Given the description of an element on the screen output the (x, y) to click on. 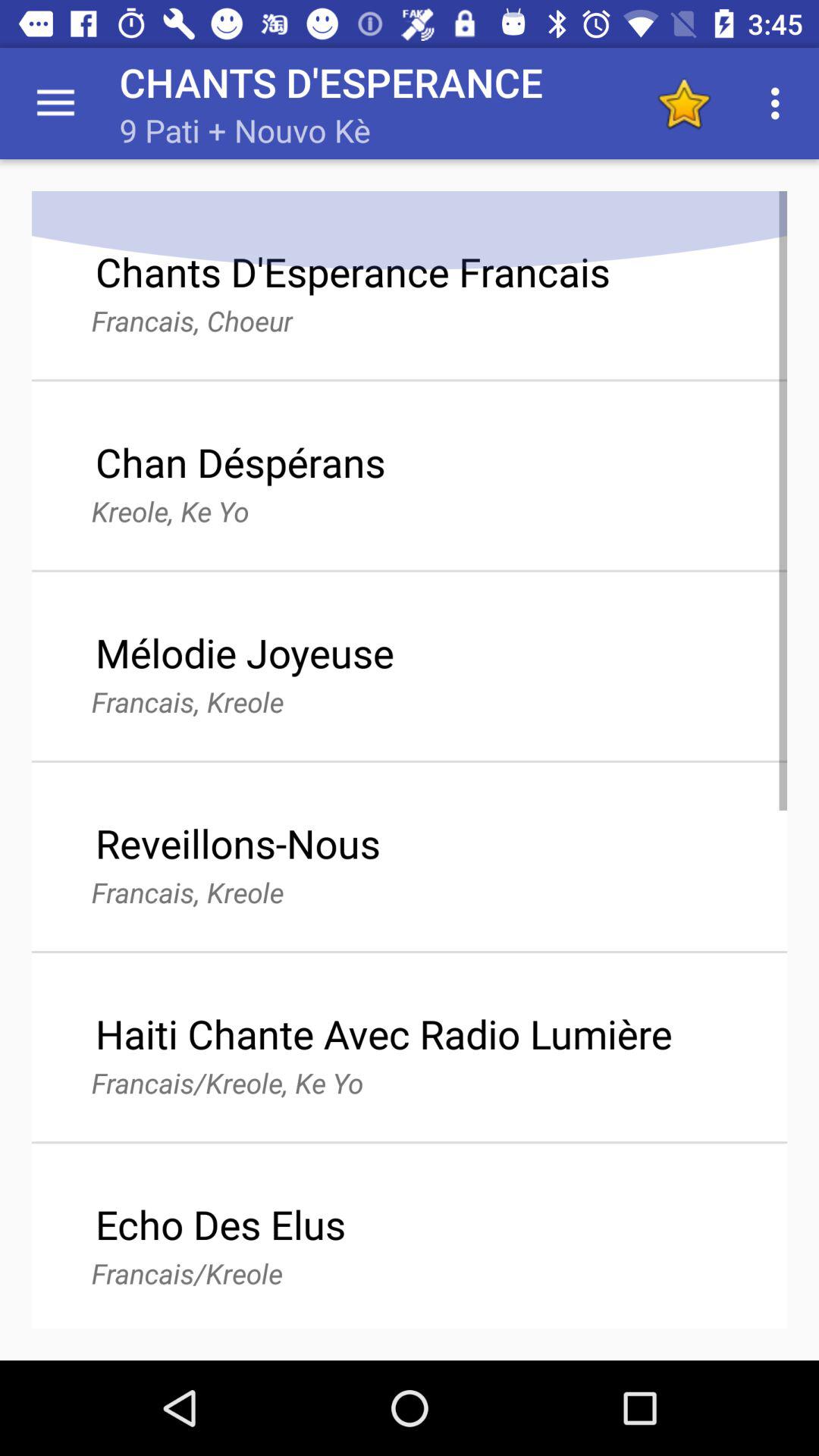
choose the item to the right of chants d'esperance (683, 103)
